Given the description of an element on the screen output the (x, y) to click on. 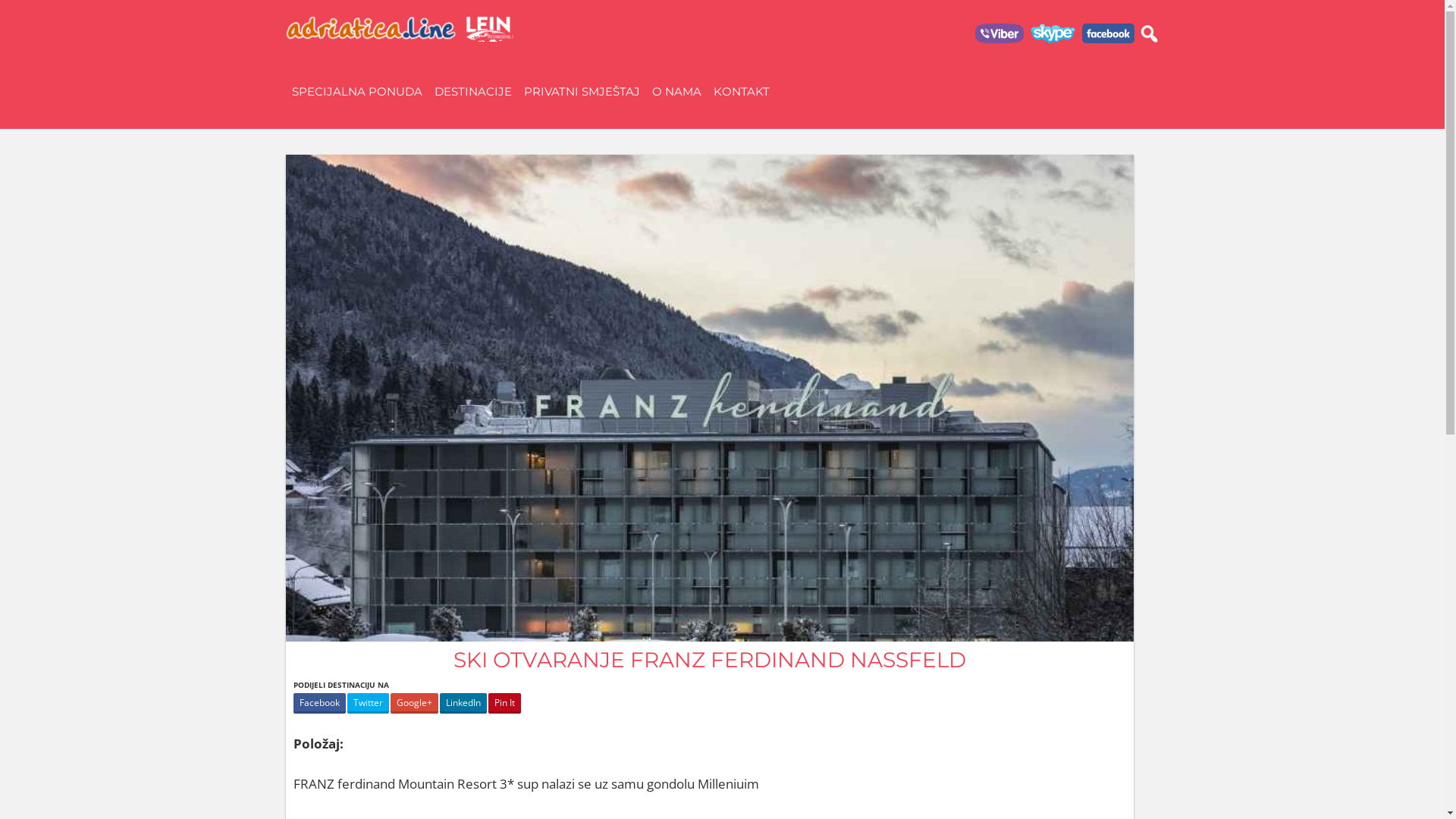
Google+ Element type: text (413, 703)
LinkedIn Element type: text (462, 703)
SPECIJALNA PONUDA Element type: text (356, 91)
Twitter Element type: text (368, 703)
Facebook Element type: text (318, 703)
DESTINACIJE Element type: text (472, 91)
O NAMA Element type: text (676, 91)
Pin It Element type: text (504, 703)
KONTAKT Element type: text (740, 91)
